Given the description of an element on the screen output the (x, y) to click on. 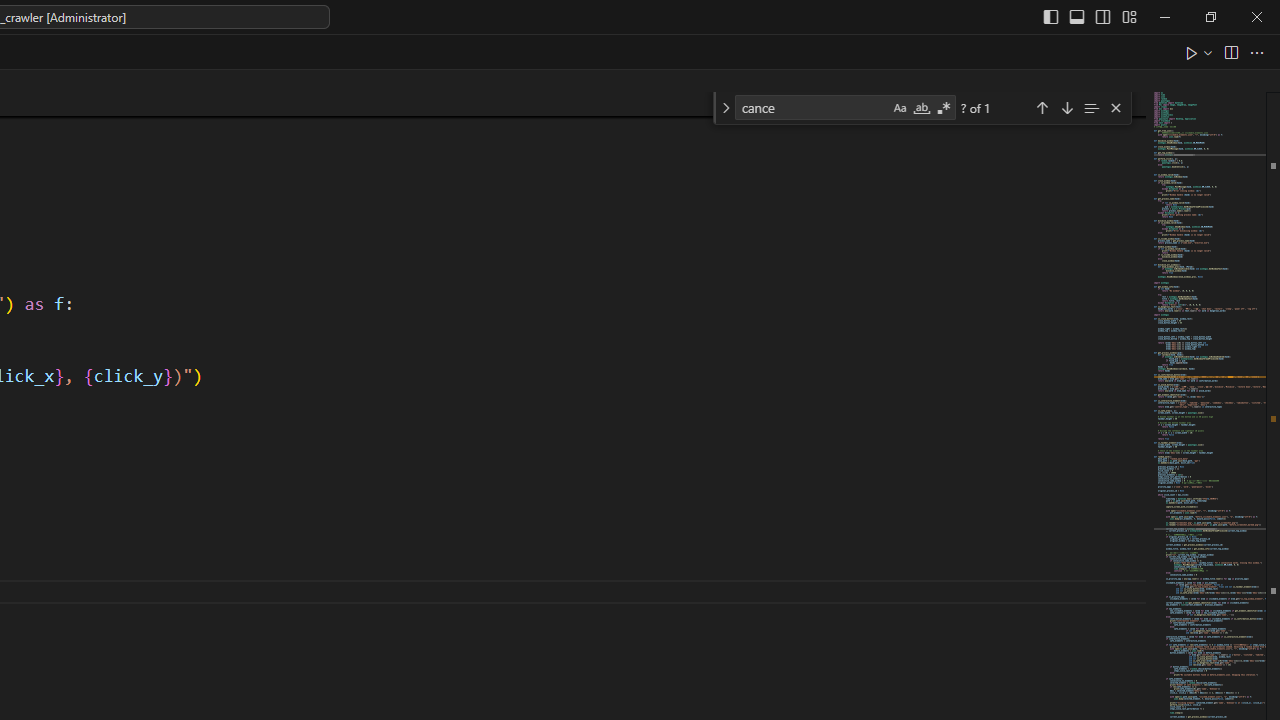
Find (604, 126)
Task Pane Options (886, 267)
Emphasis (1130, 659)
Heading 3 (1130, 543)
566ba9ff-a5b0-4b6f-bbdf-c3ab41993fc2 (1130, 342)
Mode (1083, 84)
Intense Emphasis (1130, 687)
acbfdd8b-e11b-4d36-88ff-6049b138f862 (1130, 371)
Clear All (1130, 313)
